Given the description of an element on the screen output the (x, y) to click on. 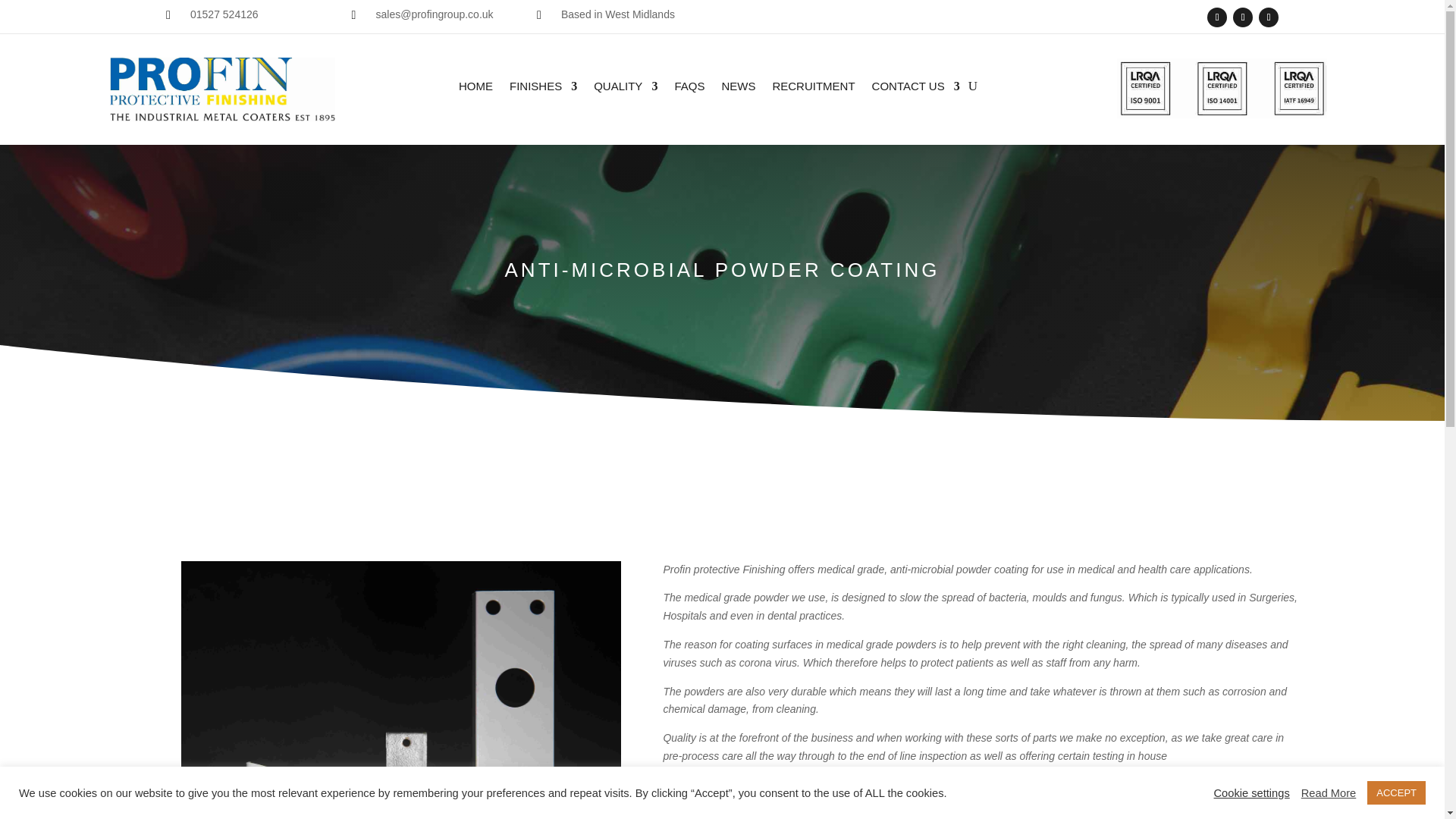
Follow on LinkedIn (1268, 17)
QUALITY (626, 89)
CONTACT US (915, 89)
RECRUITMENT (812, 89)
HOME (475, 89)
FINISHES (542, 89)
Follow on Instagram (1242, 17)
NEWS (737, 89)
FAQS (689, 89)
Follow on Facebook (1217, 17)
